Given the description of an element on the screen output the (x, y) to click on. 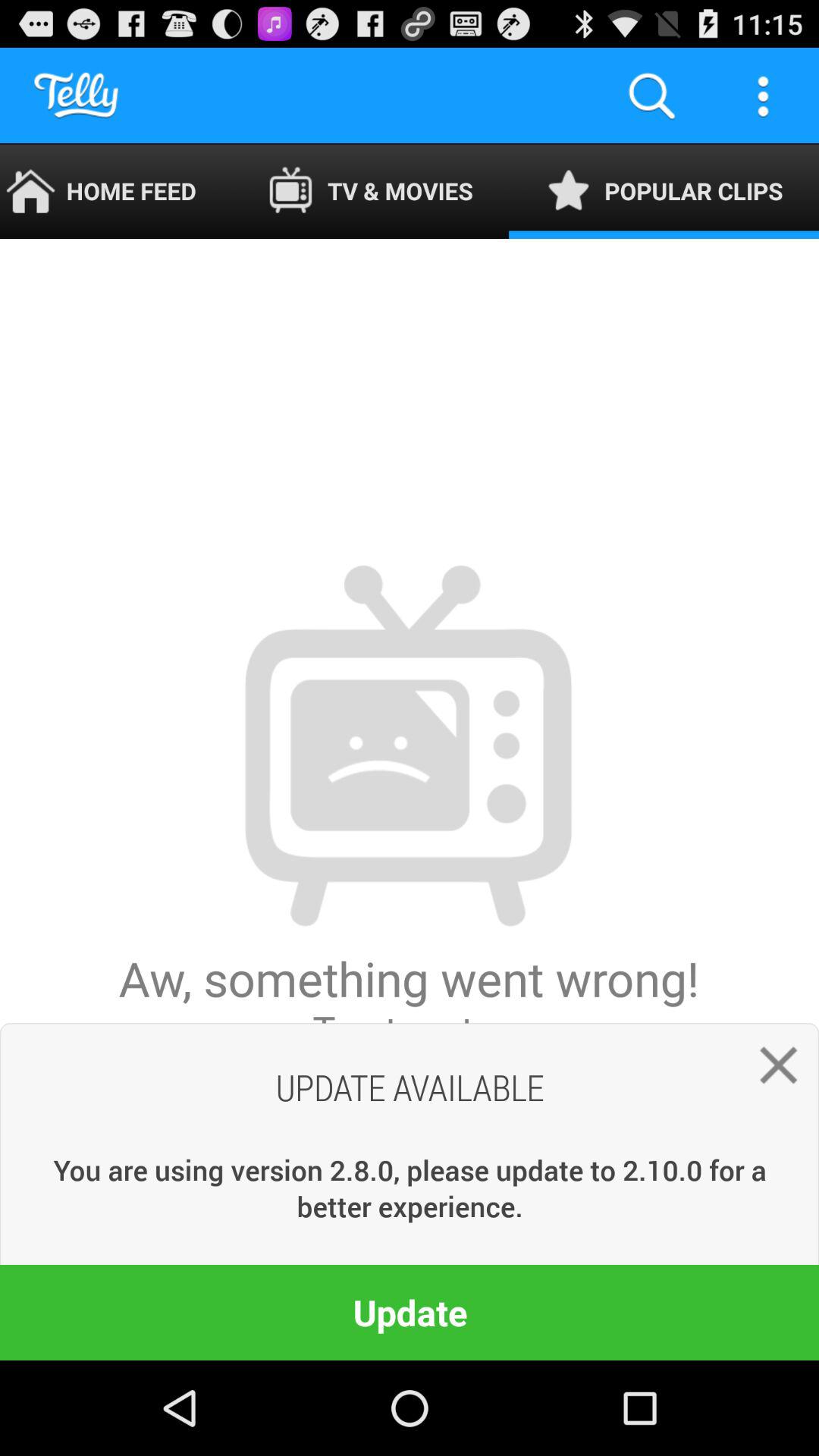
tap icon above the aw something went icon (116, 190)
